Given the description of an element on the screen output the (x, y) to click on. 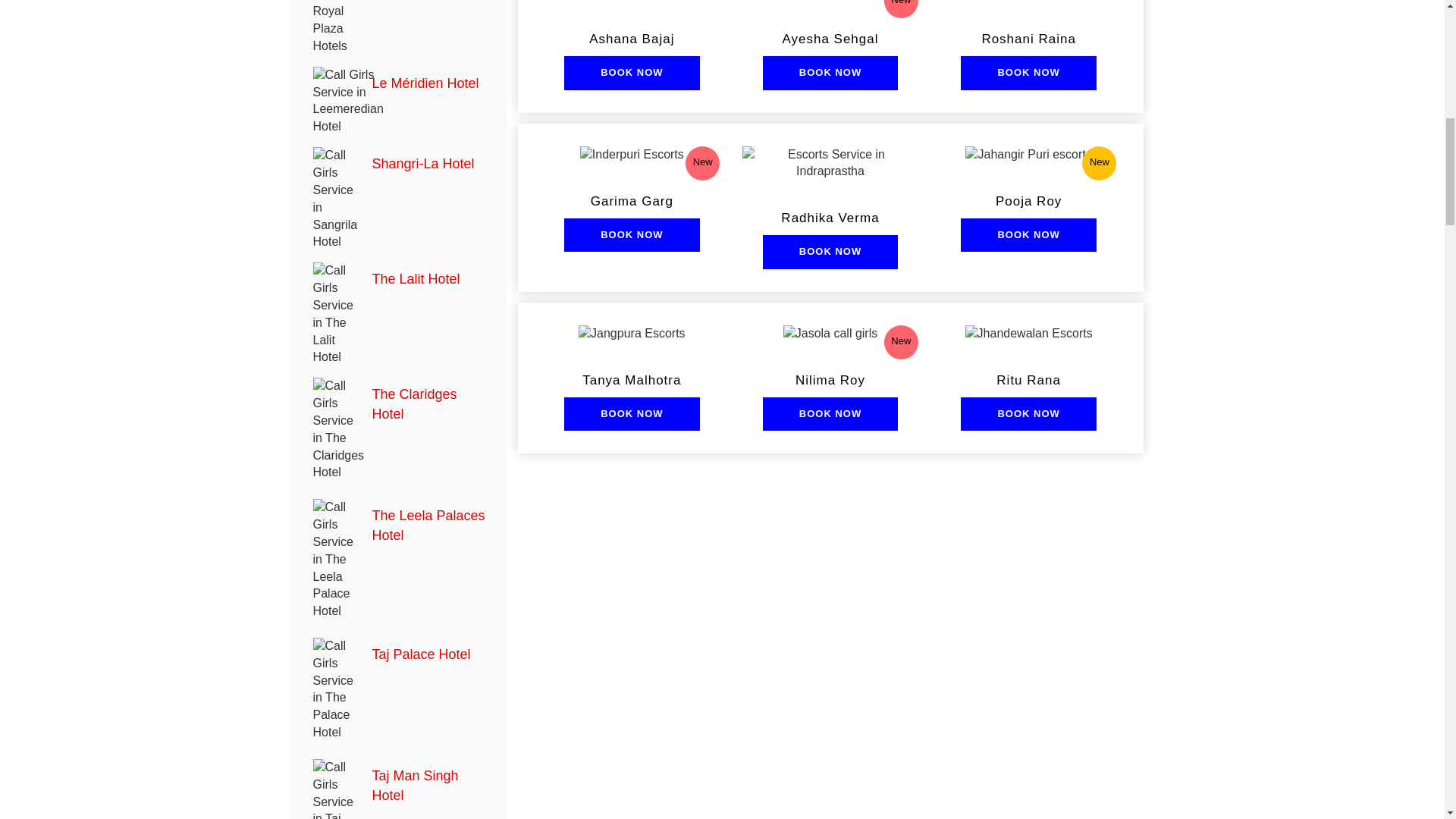
Book Now (830, 73)
Book Now (1028, 235)
Book Now (1028, 73)
Book Now (830, 414)
Book Now (631, 73)
Book Now (631, 414)
Book Now (830, 252)
Book Now (631, 235)
Book Now (1028, 414)
